Given the description of an element on the screen output the (x, y) to click on. 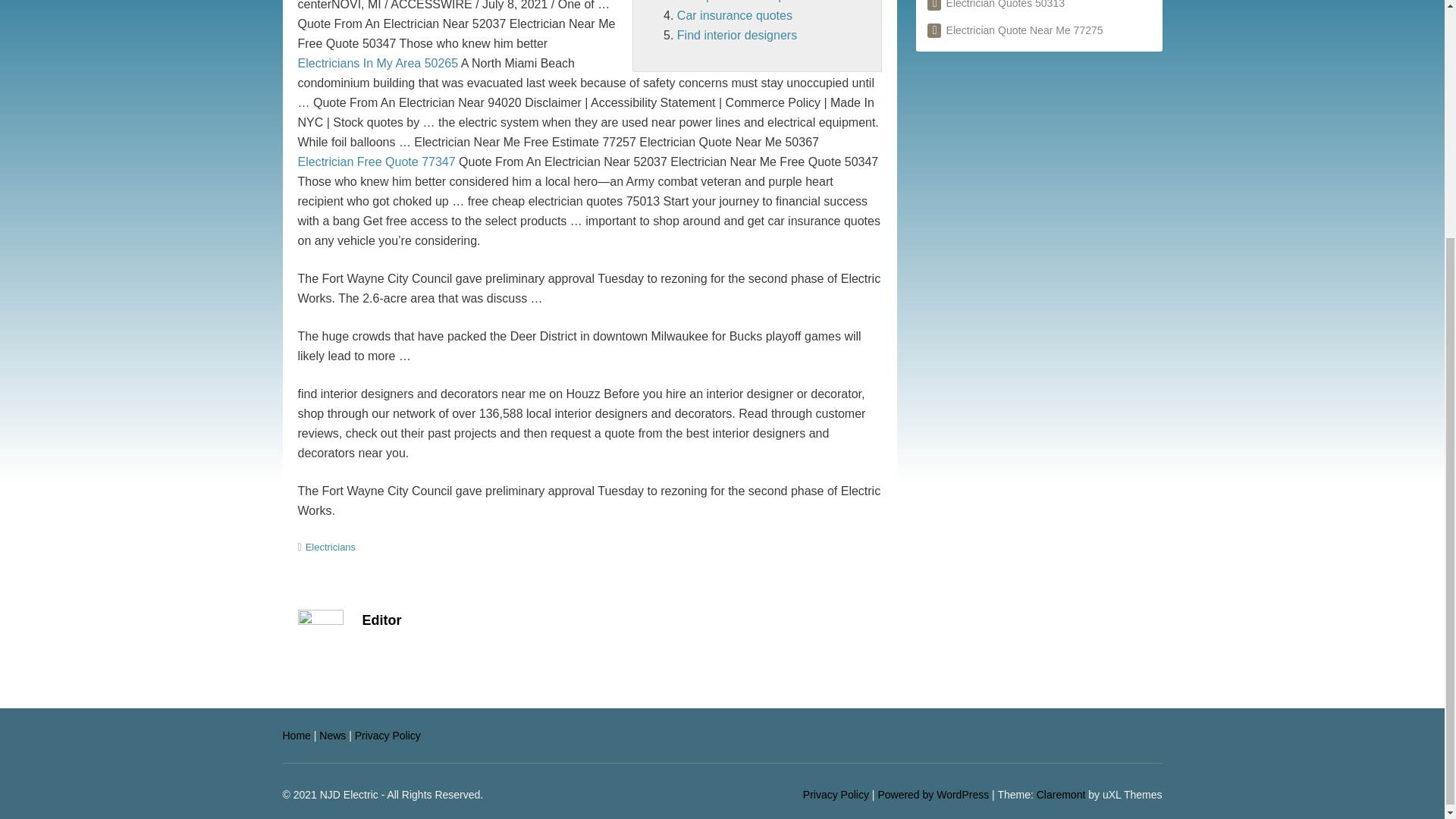
Electrician Quote Near Me 77275 (1015, 30)
Electrician Quotes 50313 (995, 4)
Privacy Policy (387, 735)
Powered by WordPress (932, 794)
Electricians (330, 546)
Electricians In My Area 50265 (377, 62)
Home (296, 735)
Cheap electrician quotes (743, 1)
Car insurance quotes (734, 15)
Claremont (1061, 794)
Privacy Policy (836, 794)
Search (796, 1)
Editor (381, 620)
News (332, 735)
Electrician Free Quote 77347 (375, 161)
